Given the description of an element on the screen output the (x, y) to click on. 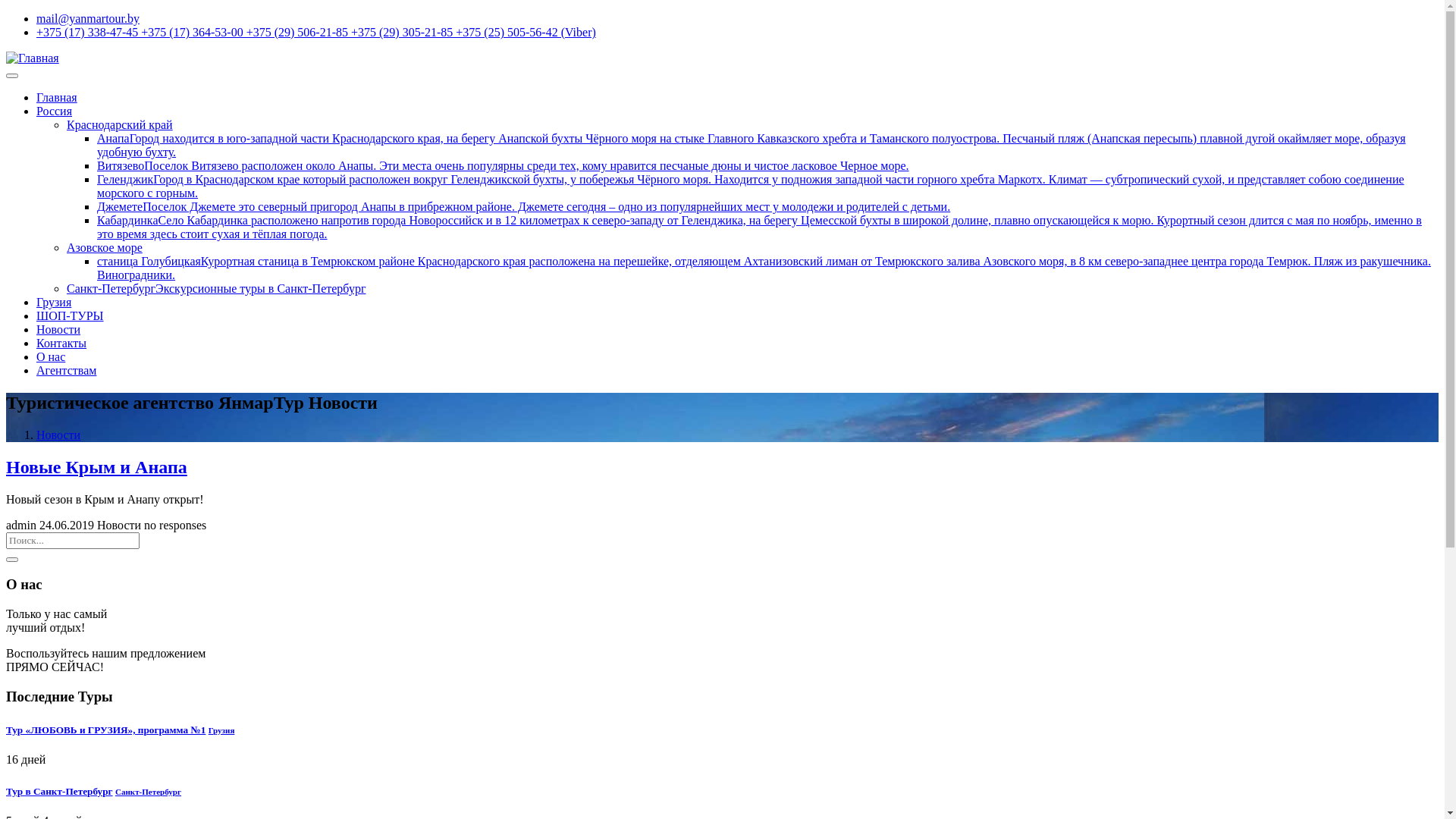
mail@yanmartour.by Element type: text (87, 18)
